Given the description of an element on the screen output the (x, y) to click on. 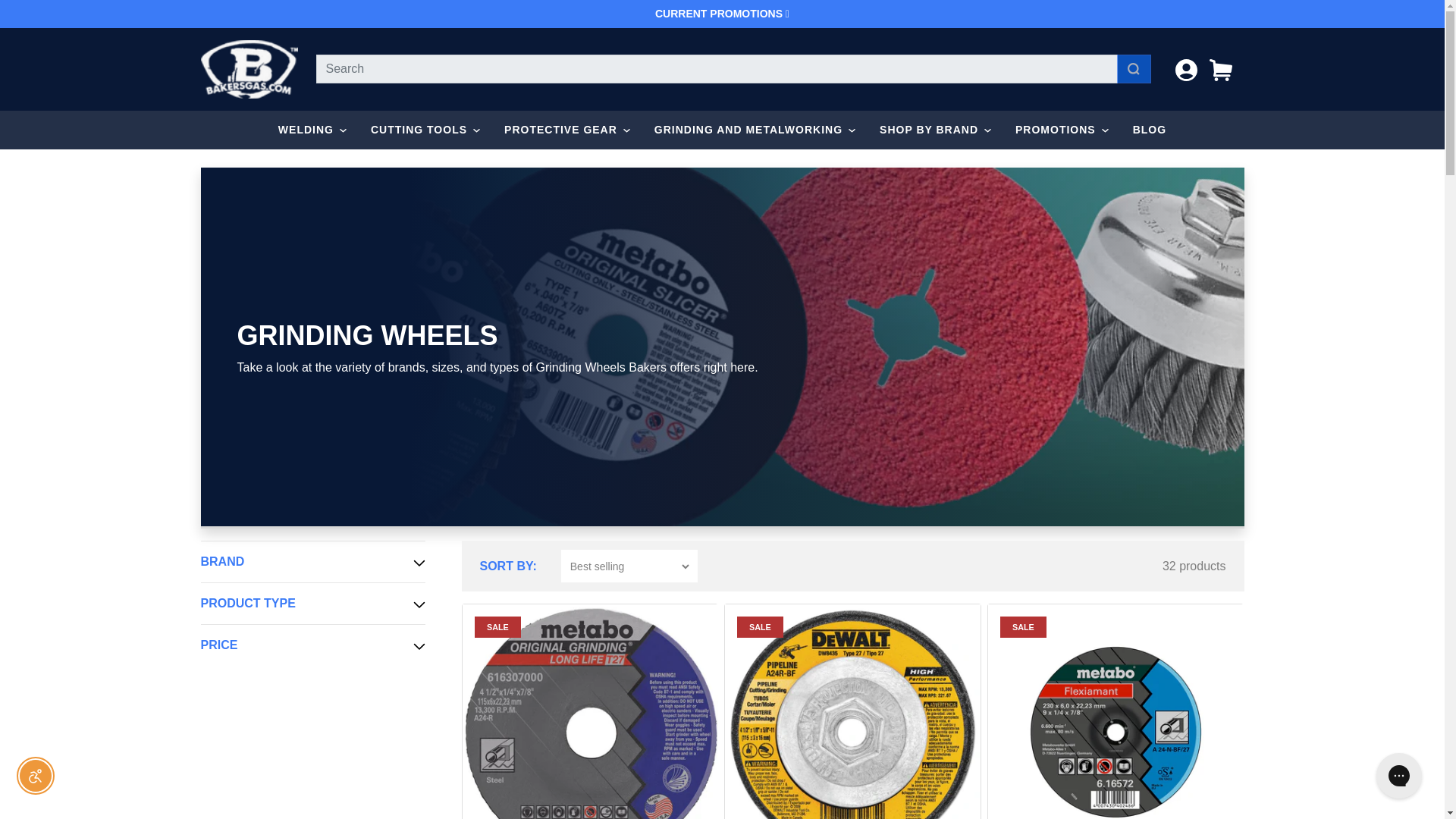
Welding (312, 605)
